Given the description of an element on the screen output the (x, y) to click on. 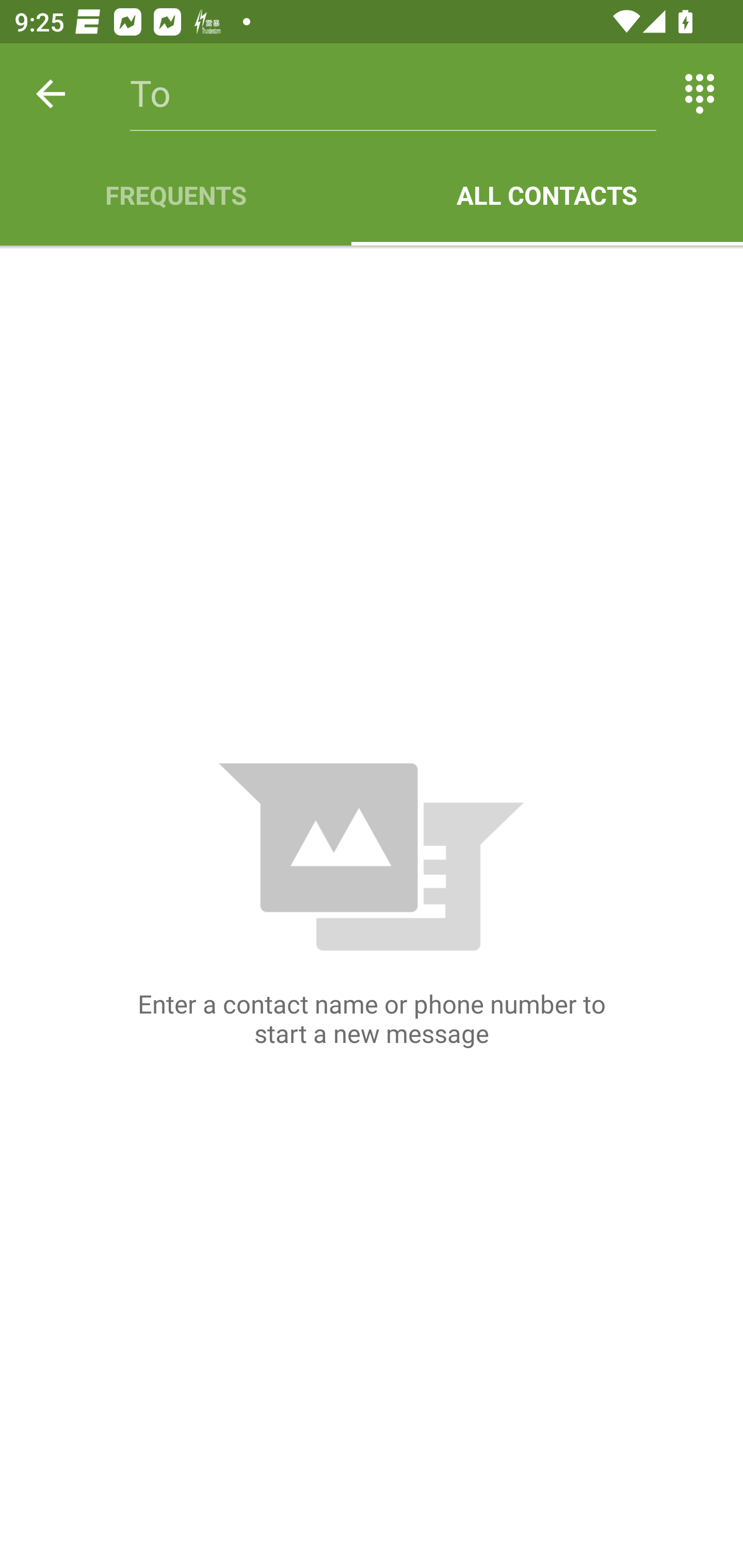
Back (50, 93)
Switch between entering text and numbers (699, 93)
To (393, 93)
FREQUENTS (175, 195)
ALL CONTACTS (547, 195)
